Given the description of an element on the screen output the (x, y) to click on. 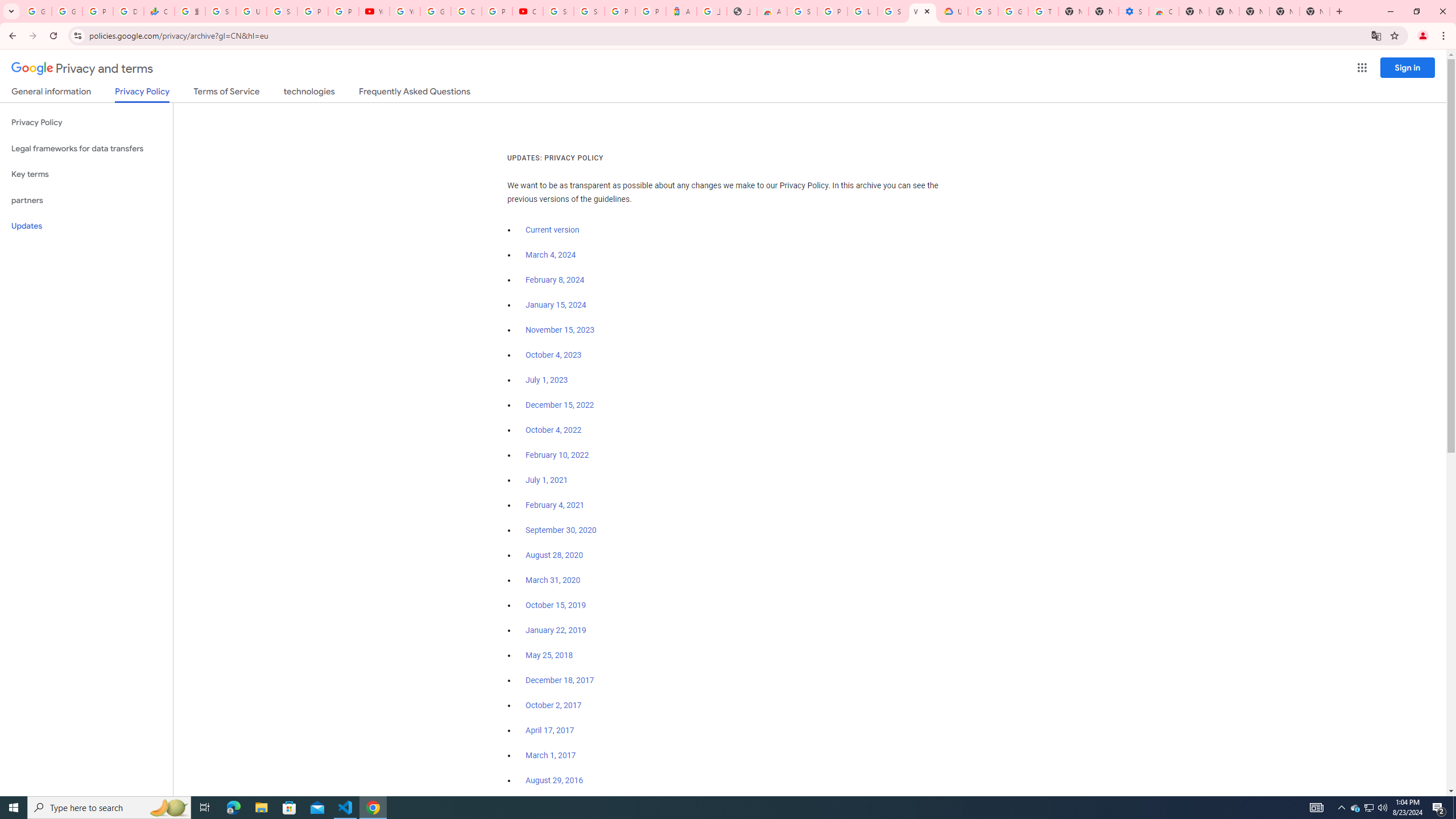
Privacy Checkup (343, 11)
January 15, 2024 (555, 305)
Translate this page (1376, 35)
Google Account Help (434, 11)
October 15, 2019 (555, 605)
Currencies - Google Finance (158, 11)
partners (86, 199)
Frequently Asked Questions (414, 93)
September 30, 2020 (560, 530)
